Given the description of an element on the screen output the (x, y) to click on. 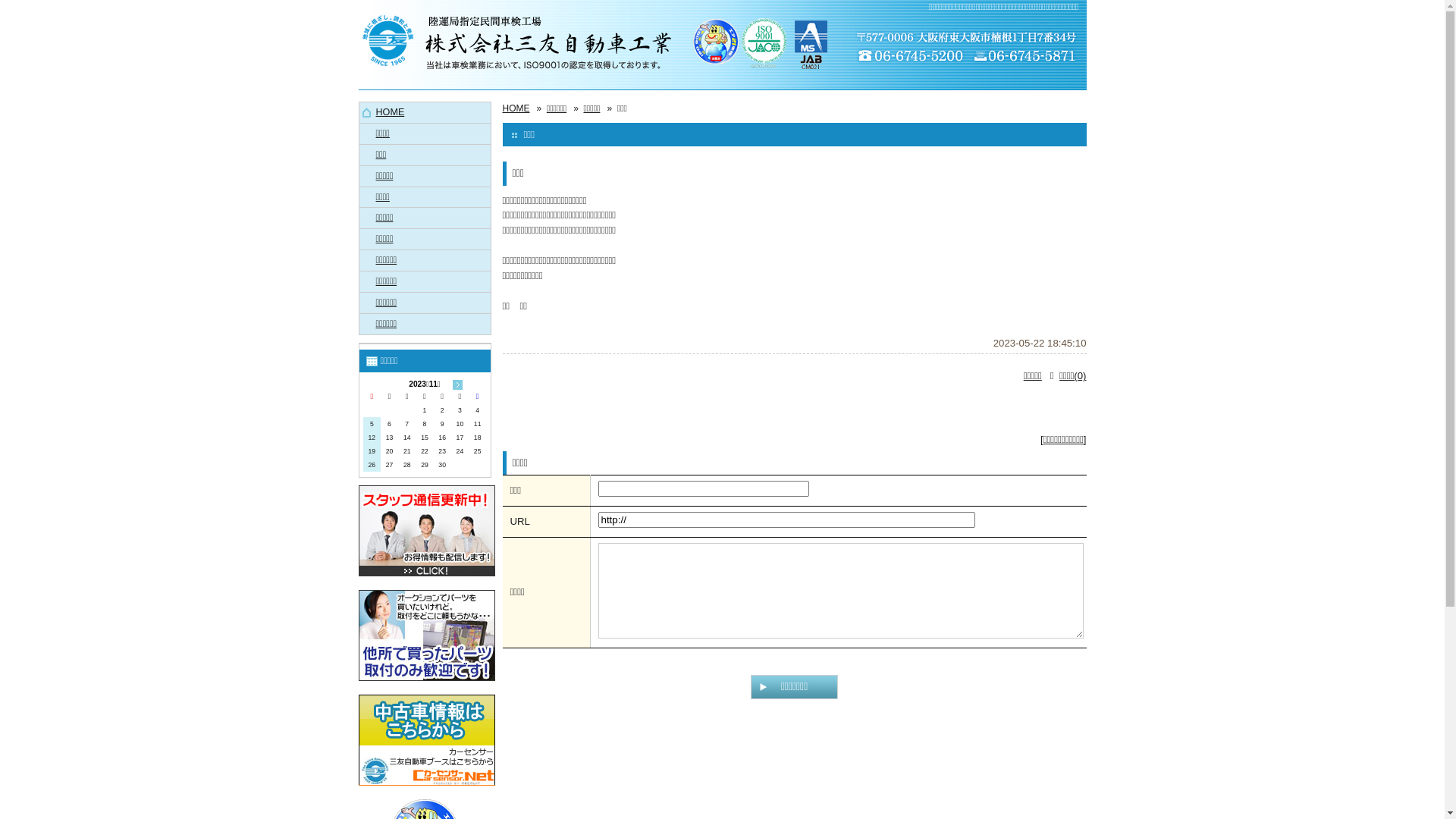
HOME Element type: text (424, 112)
HOME Element type: text (515, 108)
